Given the description of an element on the screen output the (x, y) to click on. 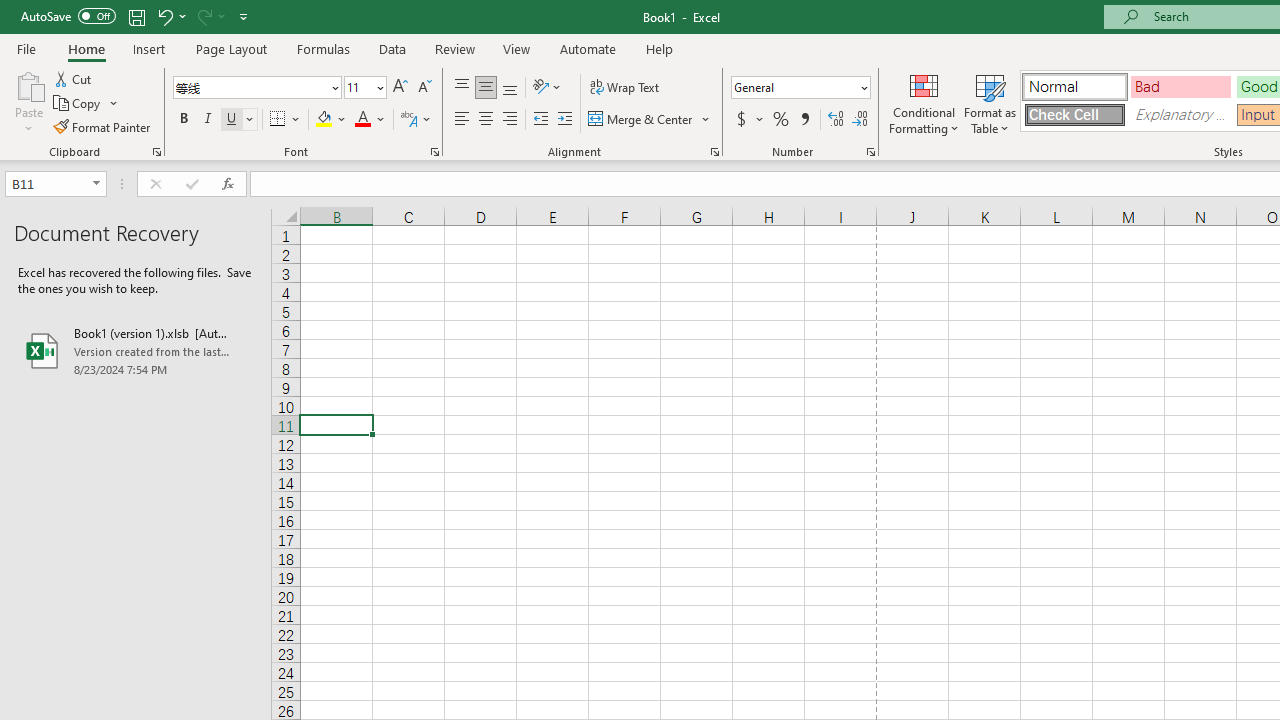
Underline (239, 119)
Copy (78, 103)
Format Painter (103, 126)
Fill Color RGB(255, 255, 0) (324, 119)
Merge & Center (641, 119)
Increase Indent (565, 119)
Merge & Center (649, 119)
Show Phonetic Field (408, 119)
Bold (183, 119)
Increase Font Size (399, 87)
